Given the description of an element on the screen output the (x, y) to click on. 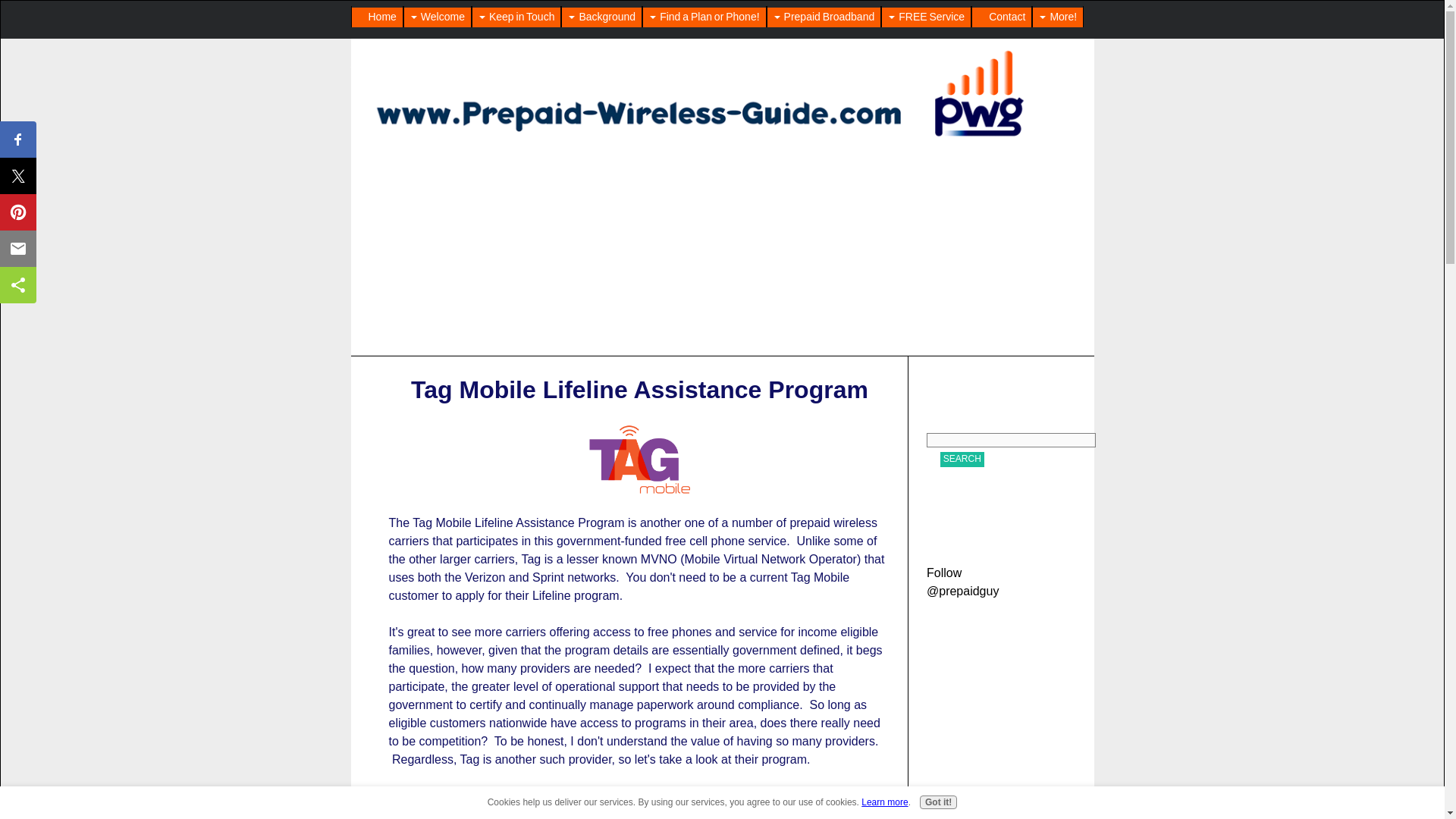
Search (962, 459)
Contact (1001, 17)
Home (377, 17)
Advertisement (638, 803)
